Given the description of an element on the screen output the (x, y) to click on. 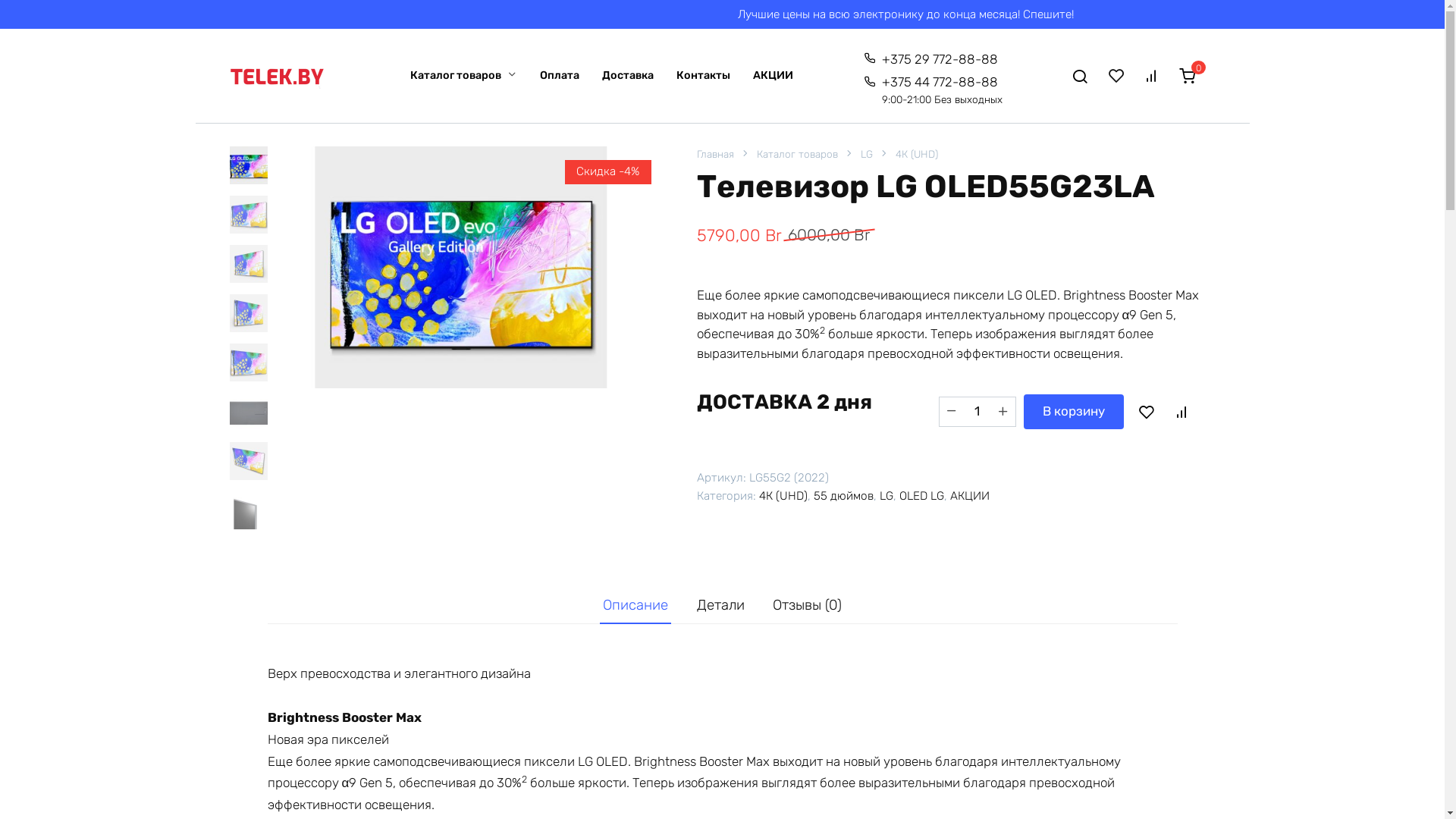
+375 29 772-88-88 Element type: text (930, 58)
0 Element type: text (1191, 75)
OLED LG Element type: text (921, 495)
LG Element type: text (865, 152)
LG65G2 Element type: hover (461, 266)
LG Element type: text (886, 495)
